Given the description of an element on the screen output the (x, y) to click on. 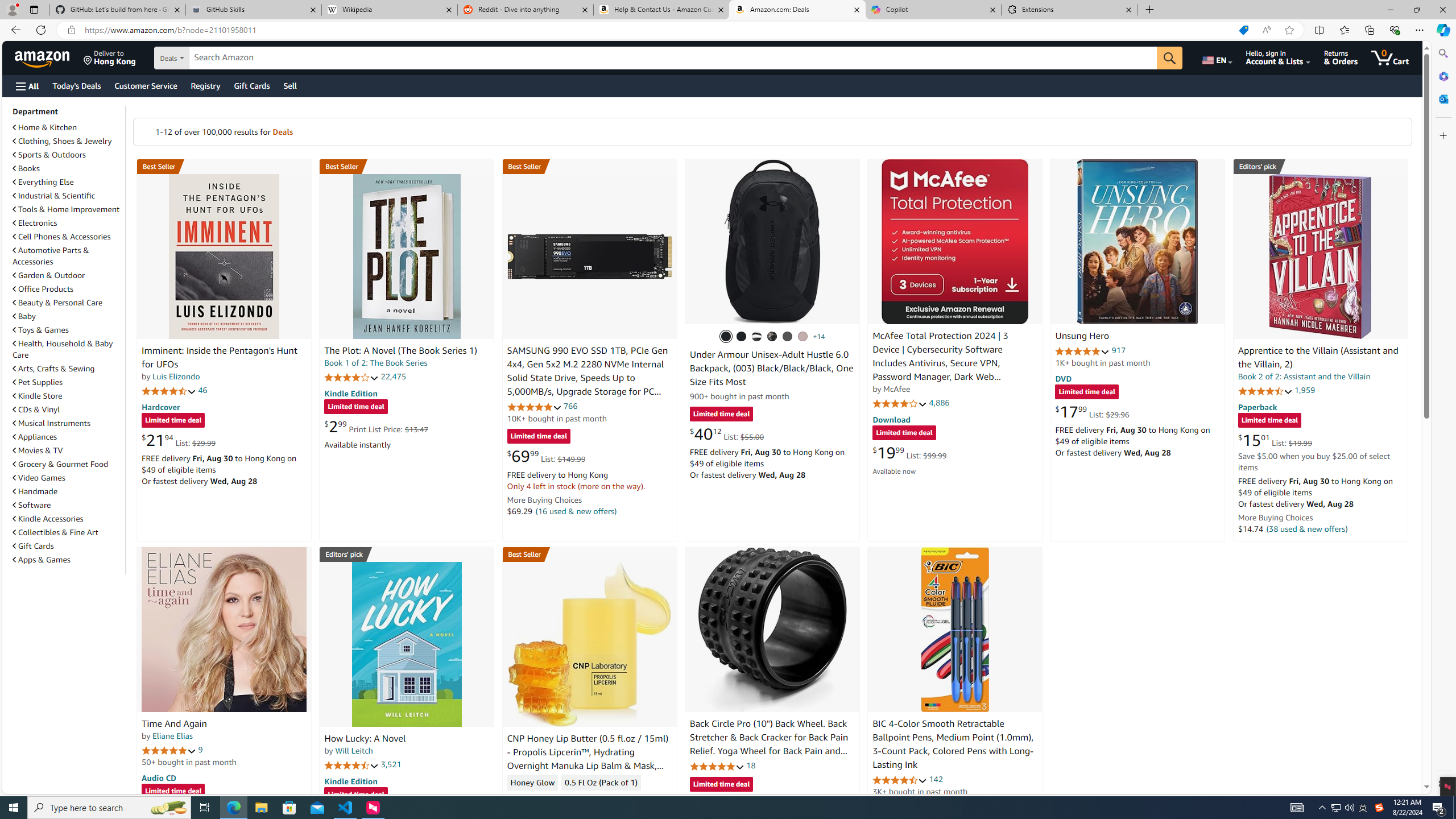
Books (67, 167)
GitHub Skills (253, 9)
Deliver to Hong Kong (109, 57)
Best Seller in Unexplained Mysteries (223, 165)
Apprentice to the Villain (Assistant and the Villain, 2) (1318, 358)
Appliances (34, 436)
Book 2 of 2: Assistant and the Villain (1303, 376)
Toys & Games (40, 329)
(015) Tetra Gray / Tetra Gray / Gray Matter (802, 336)
Automotive Parts & Accessories (50, 255)
(005) Black Full Heather / Black / Metallic Gold (788, 336)
Best Seller in Heist Thrillers (406, 165)
Clothing, Shoes & Jewelry (67, 140)
Health, Household & Baby Care (63, 349)
Cell Phones & Accessories (67, 236)
